Given the description of an element on the screen output the (x, y) to click on. 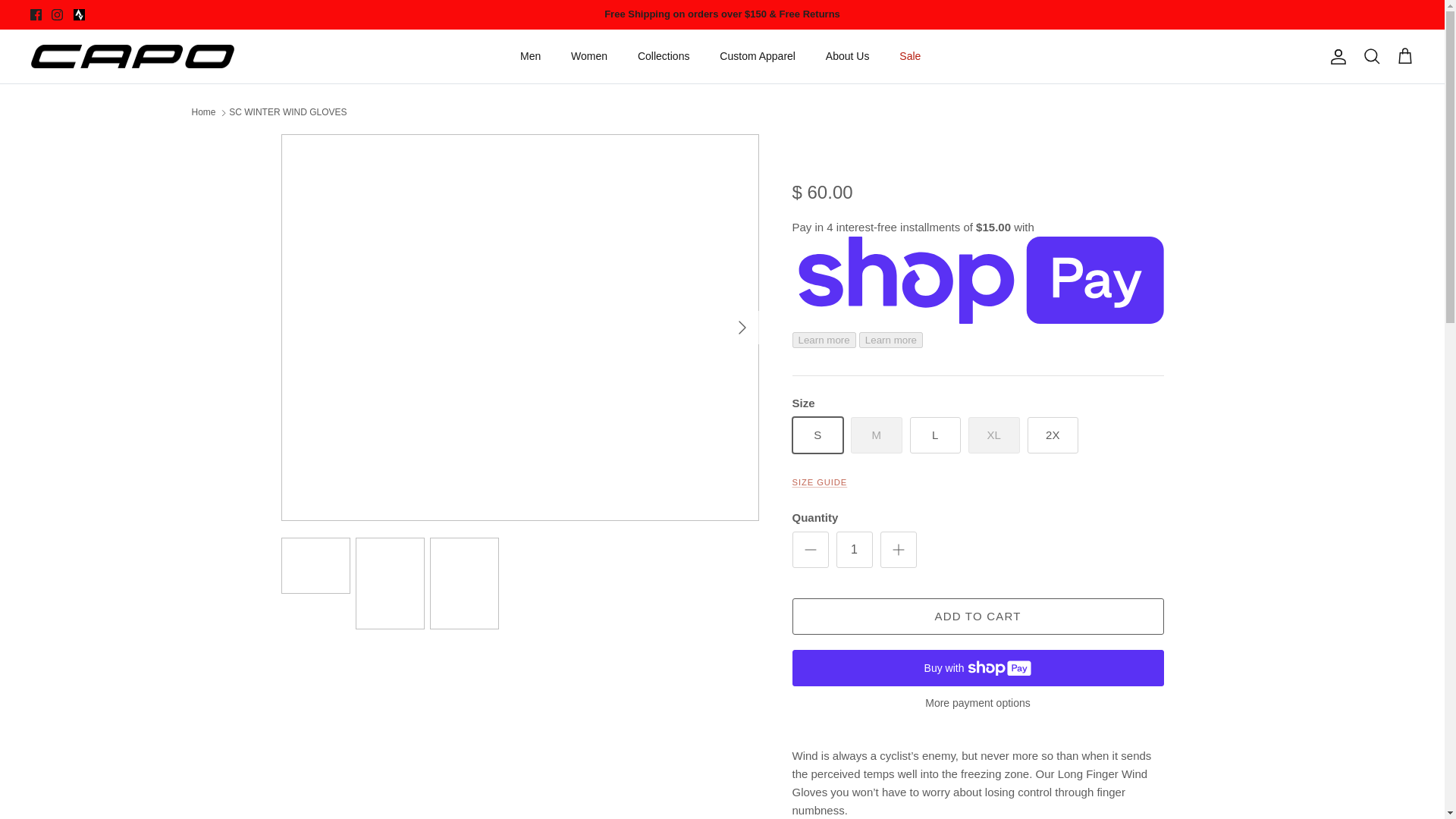
RIGHT (741, 327)
Facebook (36, 14)
Capo Cycling Apparel (132, 56)
Collections (663, 56)
About Us (847, 56)
Account (1335, 56)
Instagram (56, 14)
Women (589, 56)
Search (1371, 56)
Minus (809, 549)
